Given the description of an element on the screen output the (x, y) to click on. 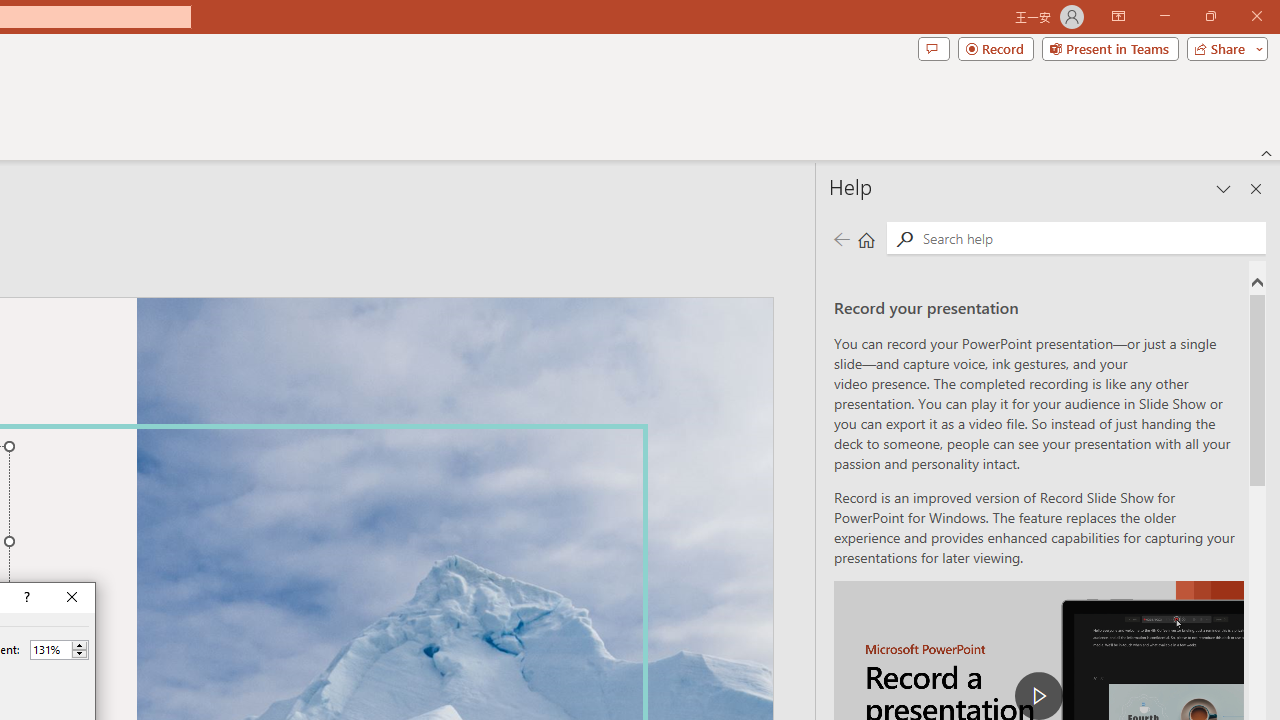
Context help (25, 597)
